Given the description of an element on the screen output the (x, y) to click on. 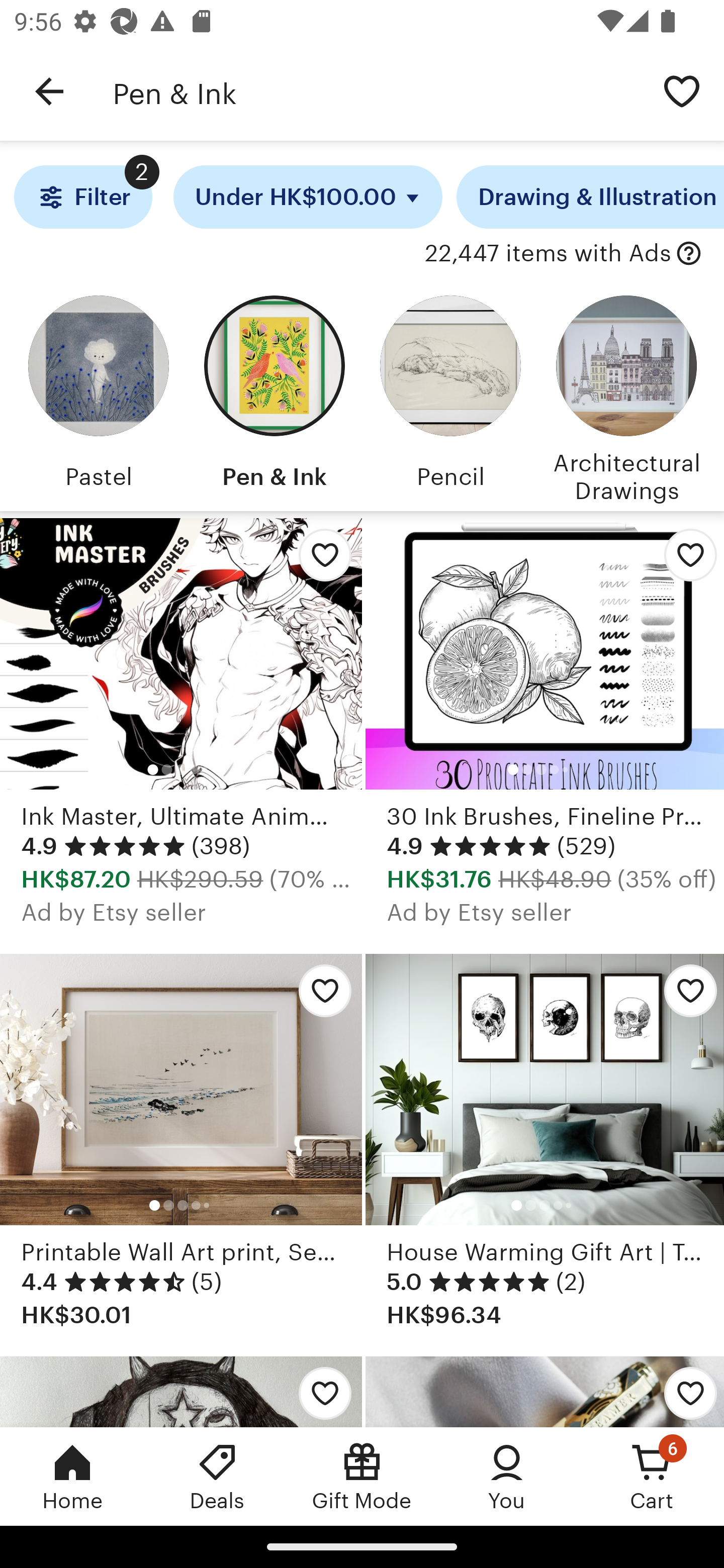
Navigate up (49, 91)
Save search (681, 90)
Pen & Ink (375, 91)
Filter (82, 197)
Under HK$100.00 (307, 197)
Drawing & Illustration (590, 197)
22,447 items with Ads (547, 253)
with Ads (688, 253)
Pastel (97, 395)
Pen & Ink (273, 395)
Pencil (449, 395)
Architectural Drawings (625, 395)
Add Pen & Ink Designs by Faye :) to favorites (319, 1391)
Add Daydreamer Pen Black to favorites (683, 1391)
Deals (216, 1475)
Gift Mode (361, 1475)
You (506, 1475)
Cart, 6 new notifications Cart (651, 1475)
